Given the description of an element on the screen output the (x, y) to click on. 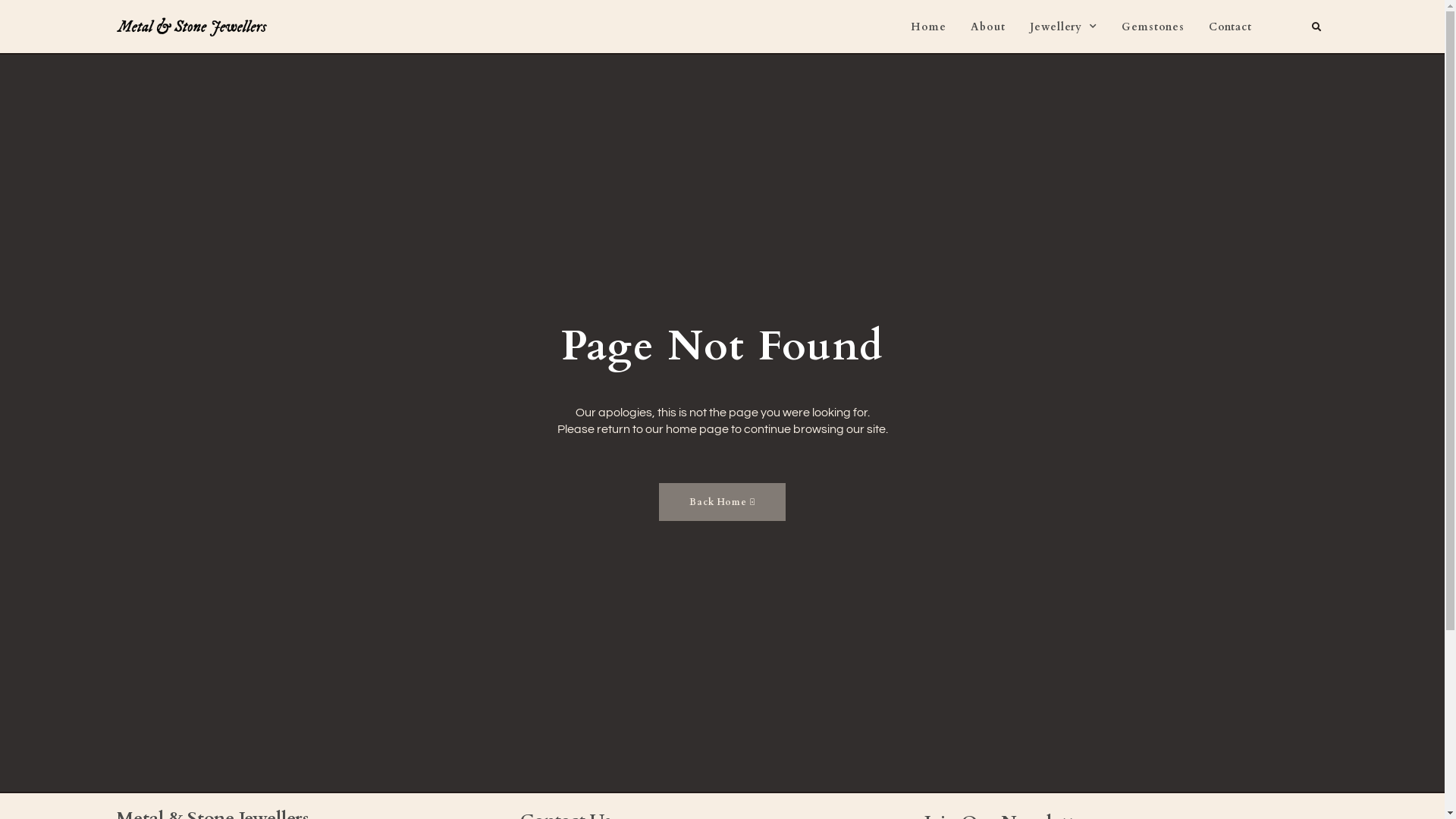
About Element type: text (987, 26)
Home Element type: text (928, 26)
Gemstones Element type: text (1152, 26)
Contact Element type: text (1230, 26)
Jewellery Element type: text (1063, 26)
